Given the description of an element on the screen output the (x, y) to click on. 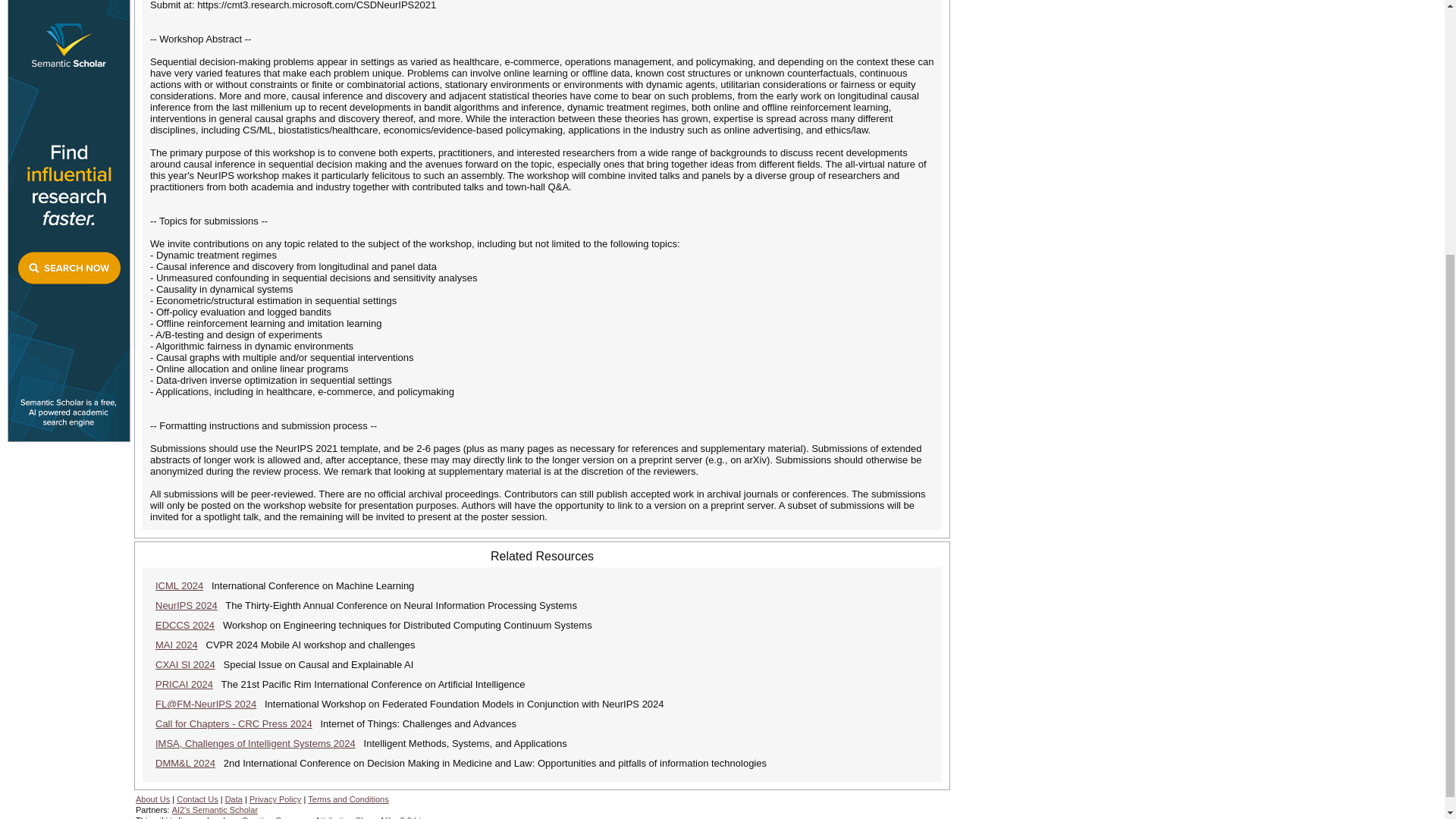
EDCCS 2024 (184, 624)
MAI 2024 (176, 644)
CXAI SI 2024 (185, 664)
PRICAI 2024 (183, 684)
NeurIPS 2024 (185, 604)
ICML 2024 (179, 585)
